Given the description of an element on the screen output the (x, y) to click on. 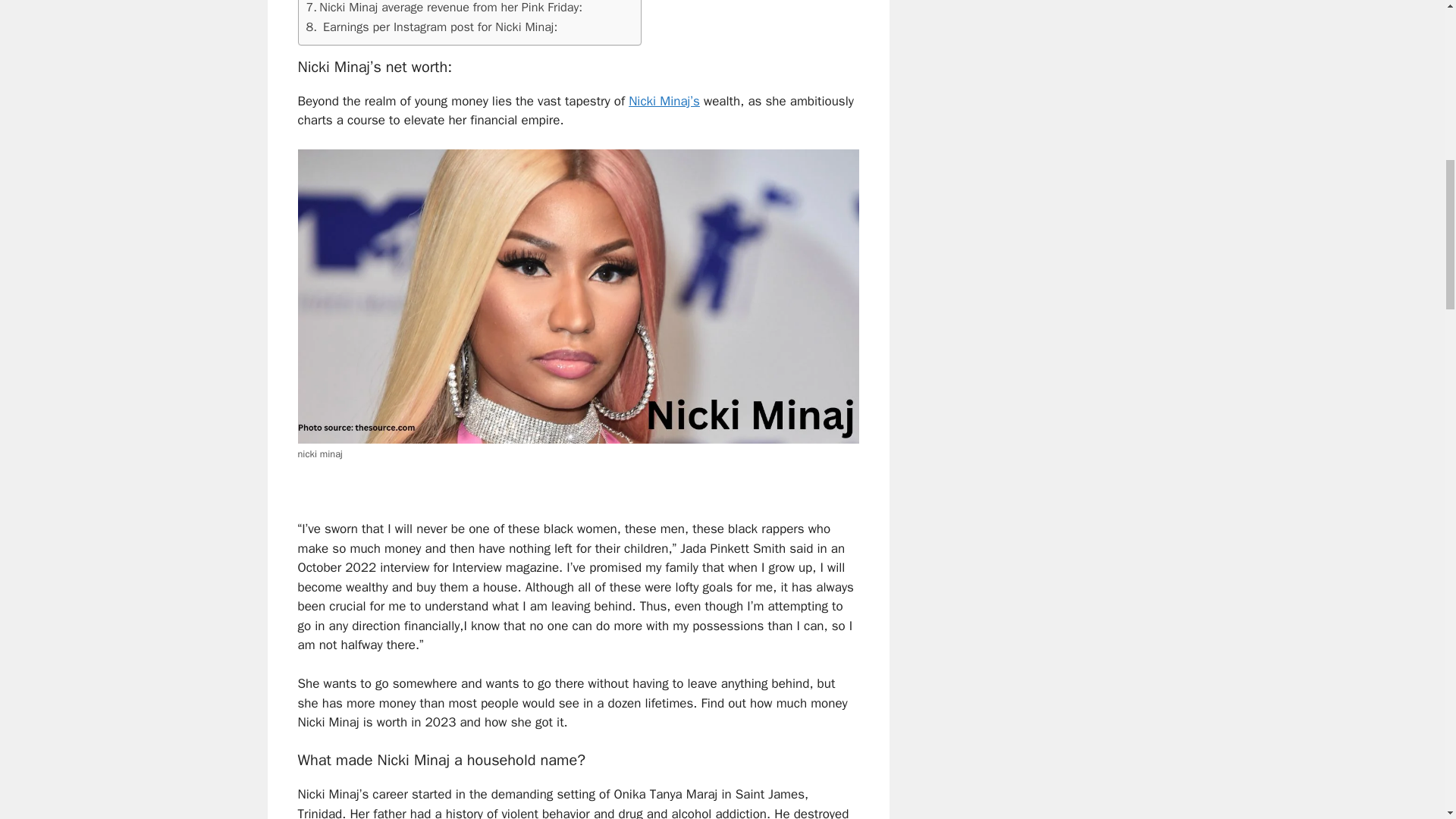
Scroll back to top (1406, 720)
Nicki Minaj average revenue from her Pink Friday: (444, 8)
 Earnings per Instagram post for Nicki Minaj: (431, 26)
Nicki Minaj average revenue from her Pink Friday: (444, 8)
